Given the description of an element on the screen output the (x, y) to click on. 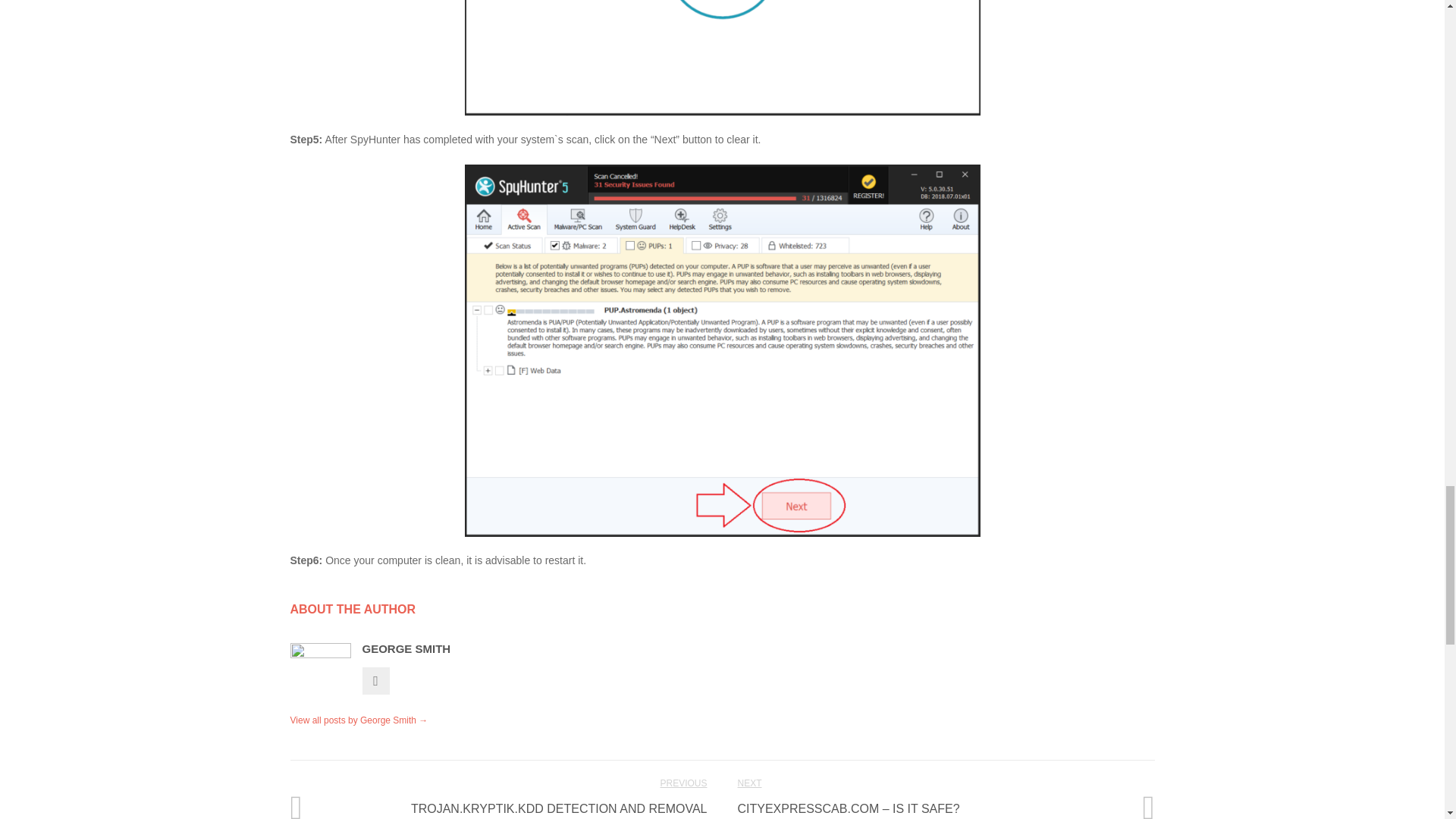
Google (376, 680)
GEORGE SMITH (406, 648)
TROJAN.KRYPTIK.KDD DETECTION AND REMOVAL (558, 808)
